Given the description of an element on the screen output the (x, y) to click on. 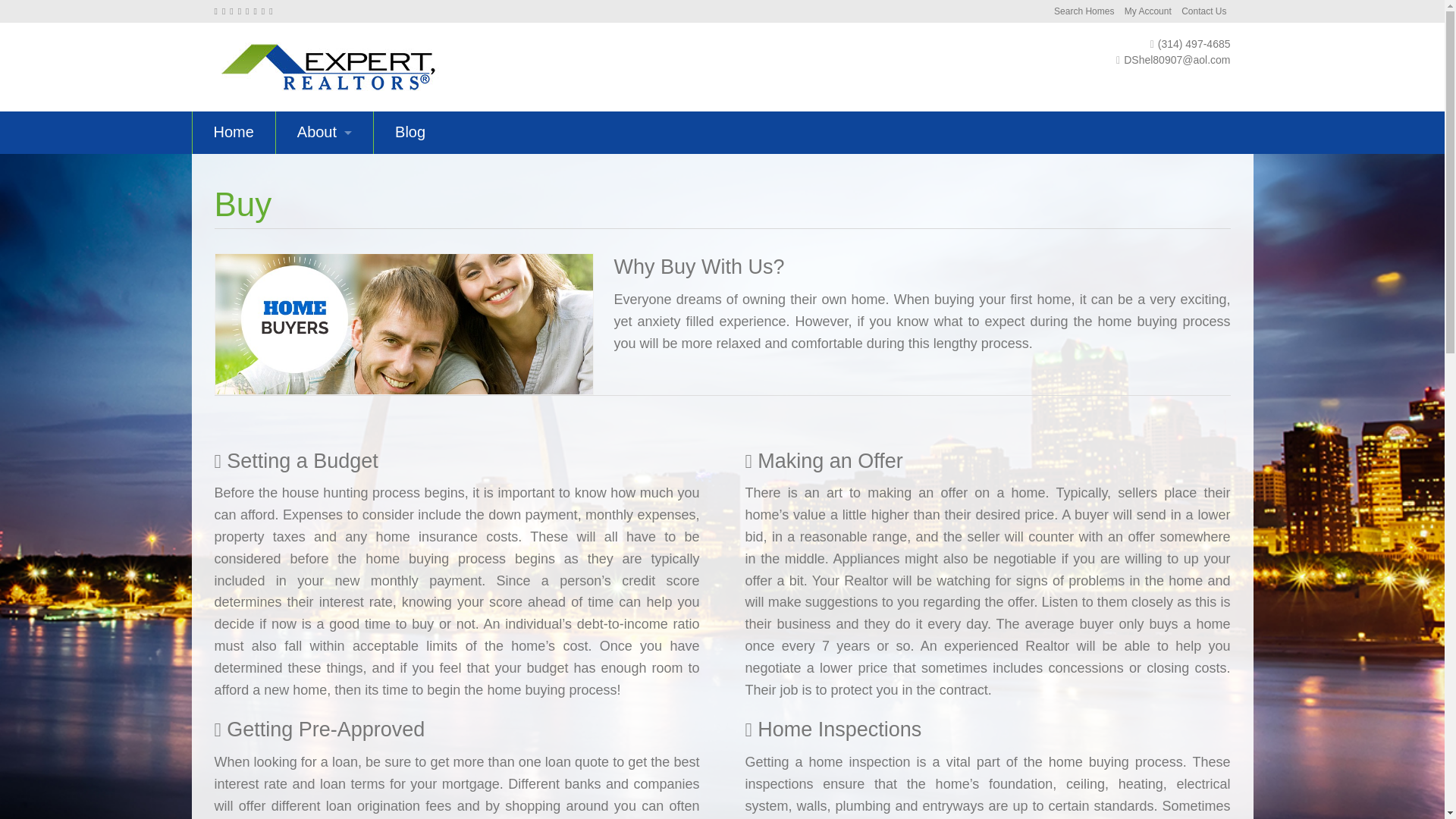
Contact Us (1202, 10)
About (324, 132)
Diane Shelton (327, 65)
My Account (1148, 10)
Contact Us (1202, 10)
Blog (410, 132)
About Jim Hurley of Expert, REALTORS (324, 132)
Search Homes (1083, 10)
My Account (1148, 10)
Search Homes (1083, 10)
Home (233, 132)
Reviews (324, 174)
